Given the description of an element on the screen output the (x, y) to click on. 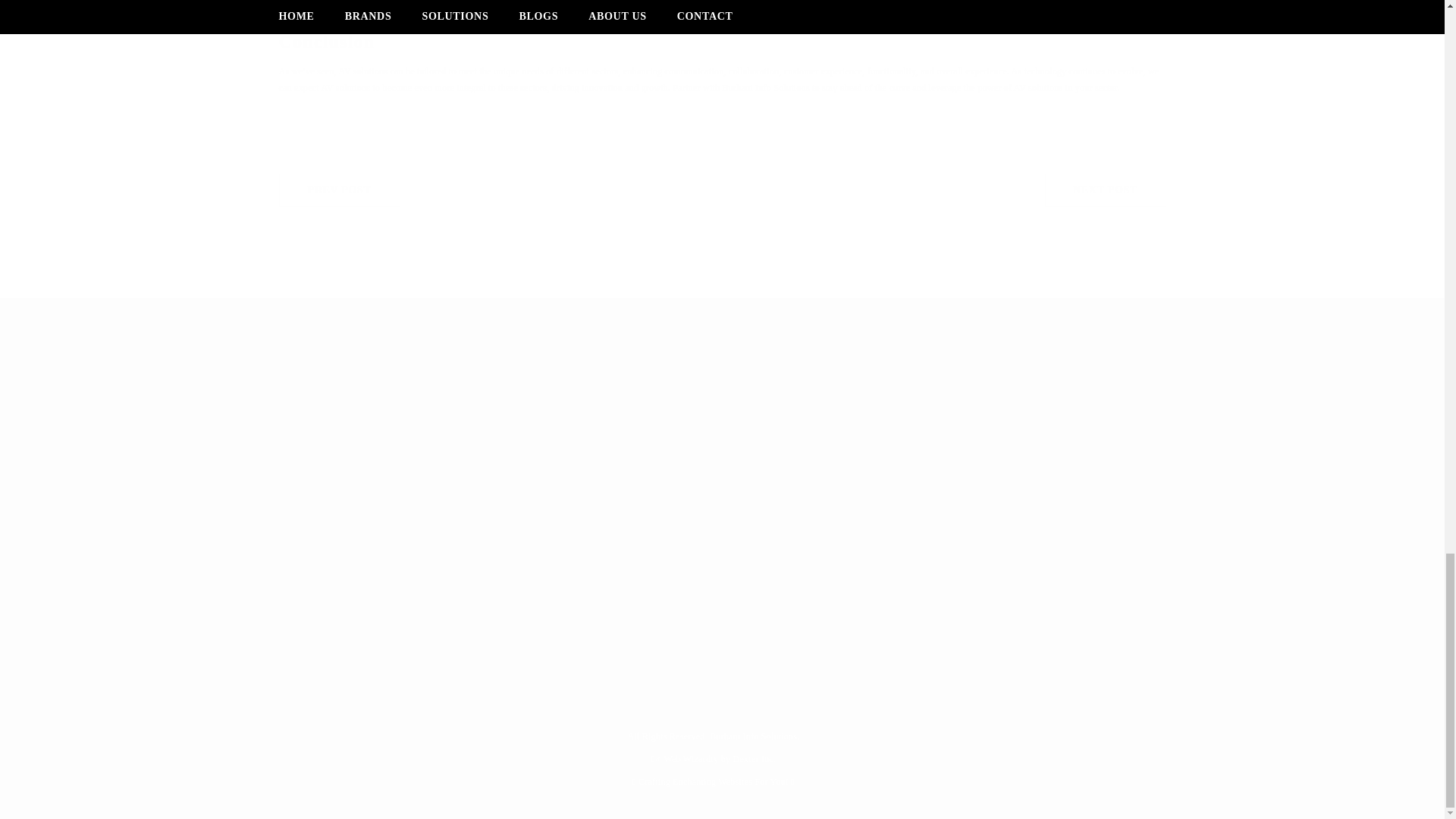
Instagram (332, 484)
NEXT POST (1105, 190)
SUBMIT (547, 411)
Pinterest (722, 190)
PREV POST (373, 484)
YouTube (339, 190)
Facebook (413, 484)
